Given the description of an element on the screen output the (x, y) to click on. 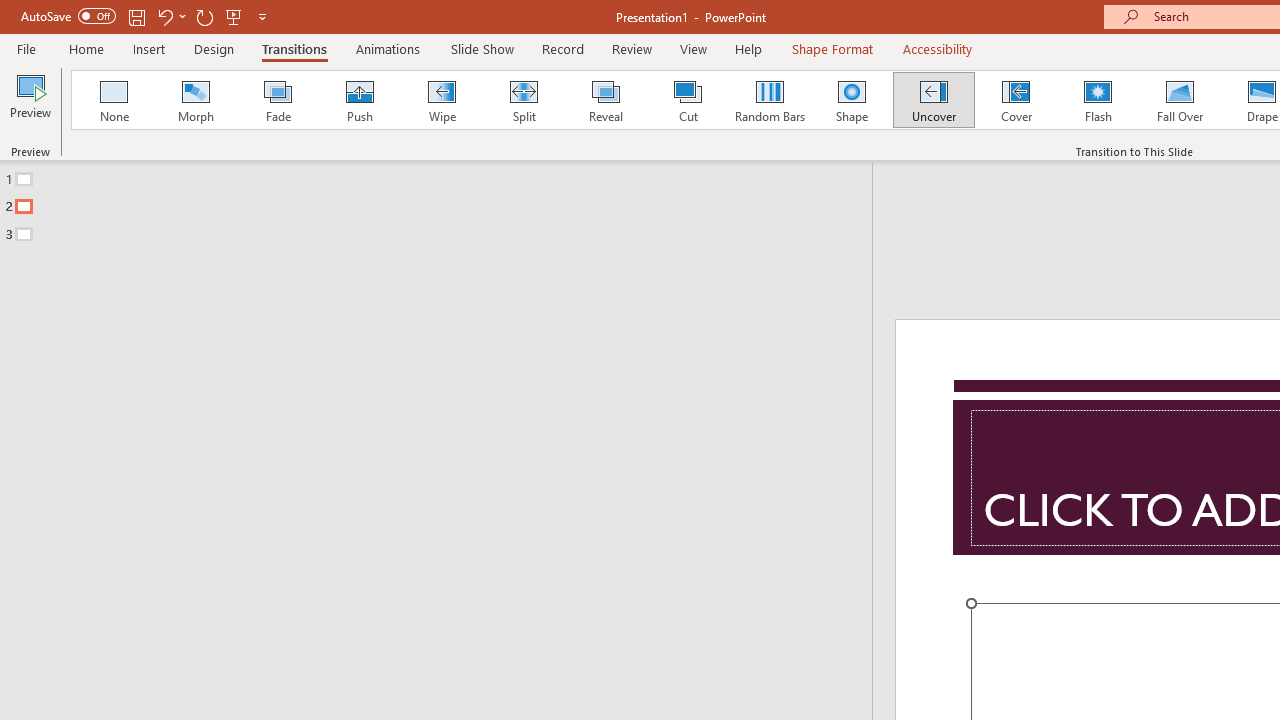
Morph (195, 100)
Uncover (934, 100)
